Given the description of an element on the screen output the (x, y) to click on. 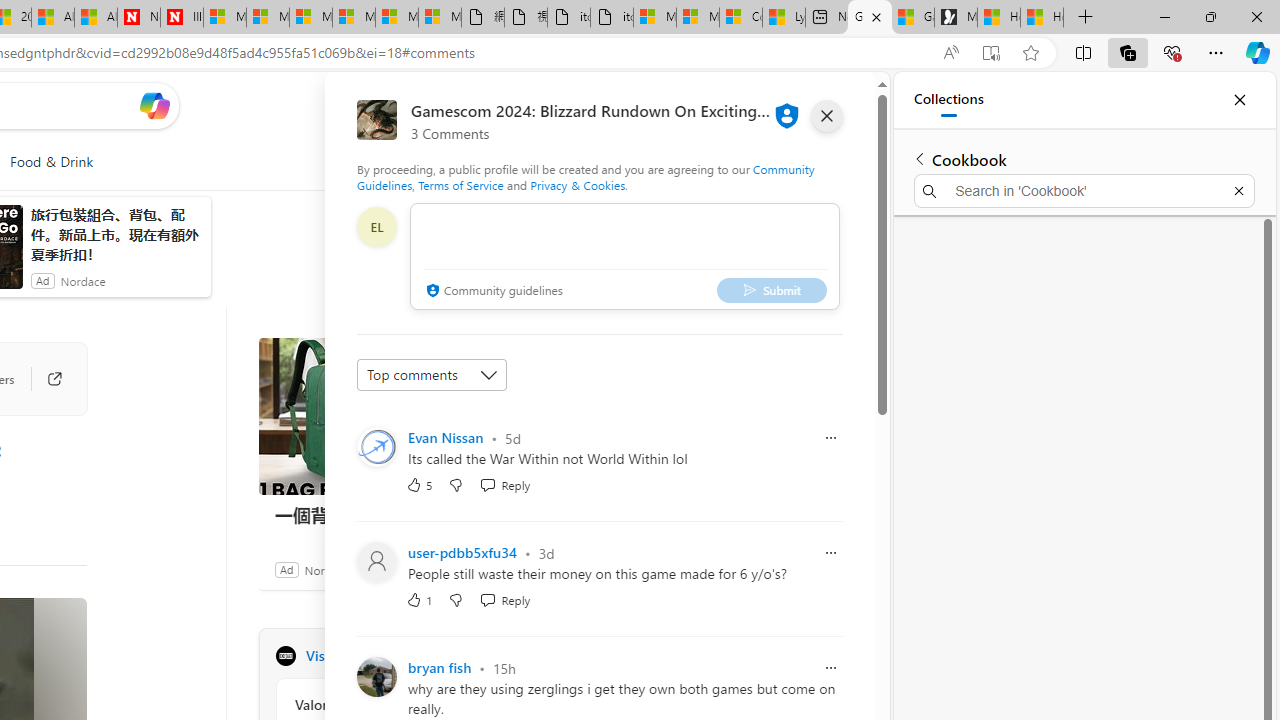
Report comment (831, 667)
user-pdbb5xfu34 (463, 552)
Illness news & latest pictures from Newsweek.com (182, 17)
Newsweek - News, Analysis, Politics, Business, Technology (138, 17)
